Given the description of an element on the screen output the (x, y) to click on. 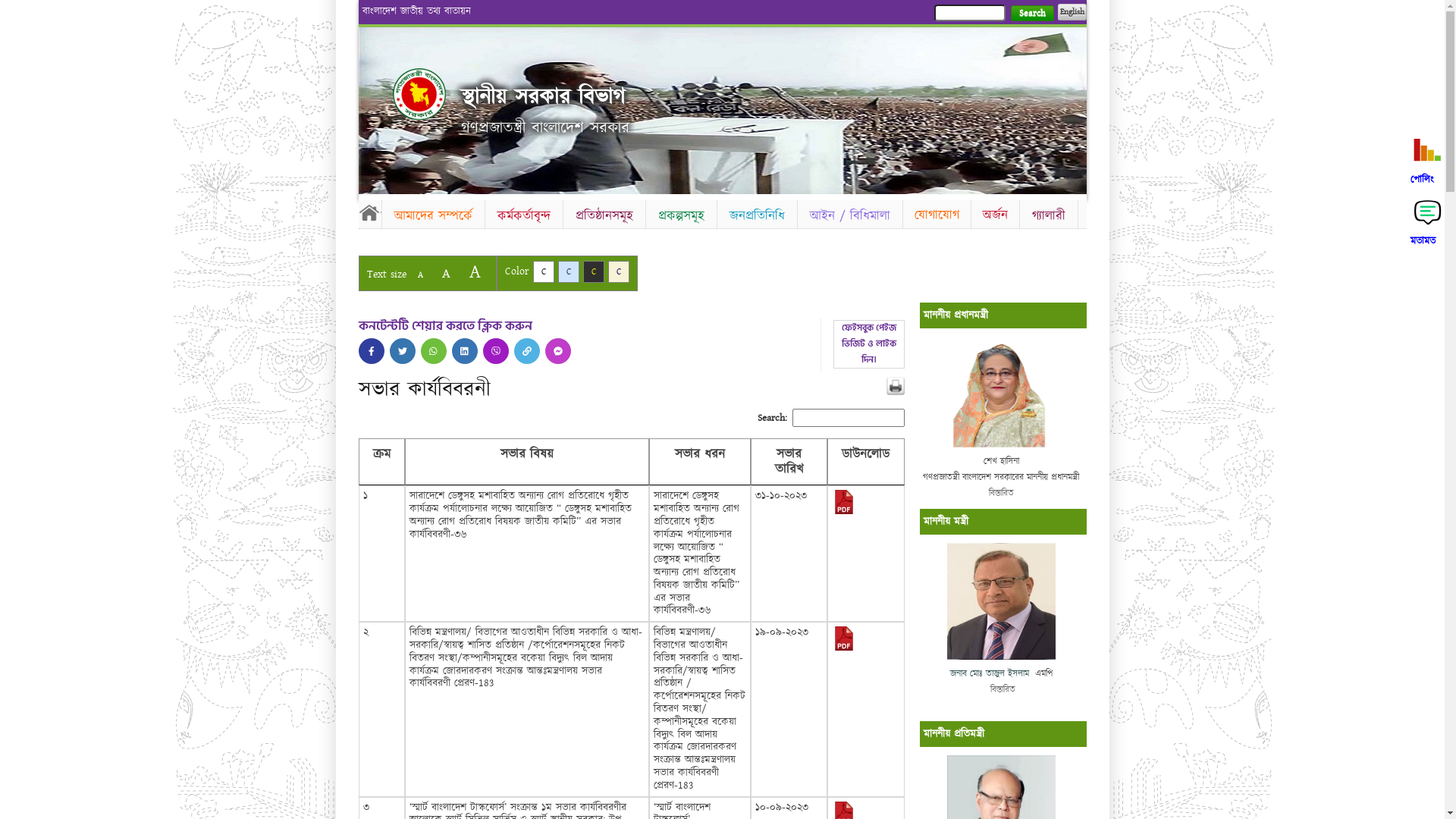
C Element type: text (568, 271)
C Element type: text (542, 271)
C Element type: text (618, 271)
A Element type: text (419, 274)

    
     Element type: hover (464, 351)
Search Element type: text (1031, 13)
English Element type: text (1071, 11)
C Element type: text (592, 271)

					
				 Element type: hover (418, 93)
A Element type: text (474, 271)
A Element type: text (445, 273)
